Given the description of an element on the screen output the (x, y) to click on. 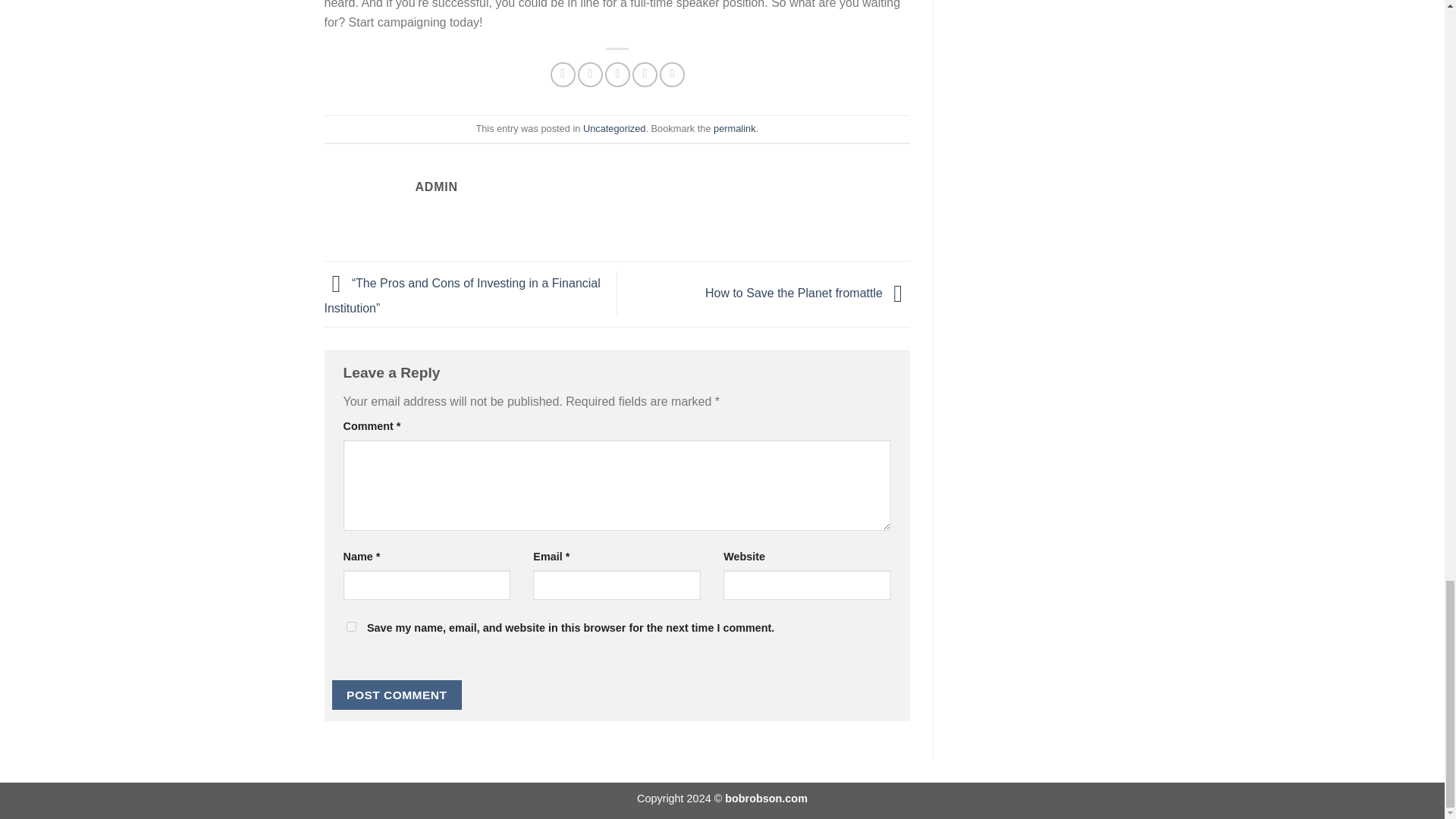
permalink (734, 128)
Email to a Friend (617, 74)
Post Comment (397, 695)
Share on Twitter (590, 74)
Share on LinkedIn (671, 74)
Share on Facebook (562, 74)
How to Save the Planet fromattle (807, 292)
Uncategorized (614, 128)
yes (350, 626)
Post Comment (397, 695)
Pin on Pinterest (644, 74)
